Given the description of an element on the screen output the (x, y) to click on. 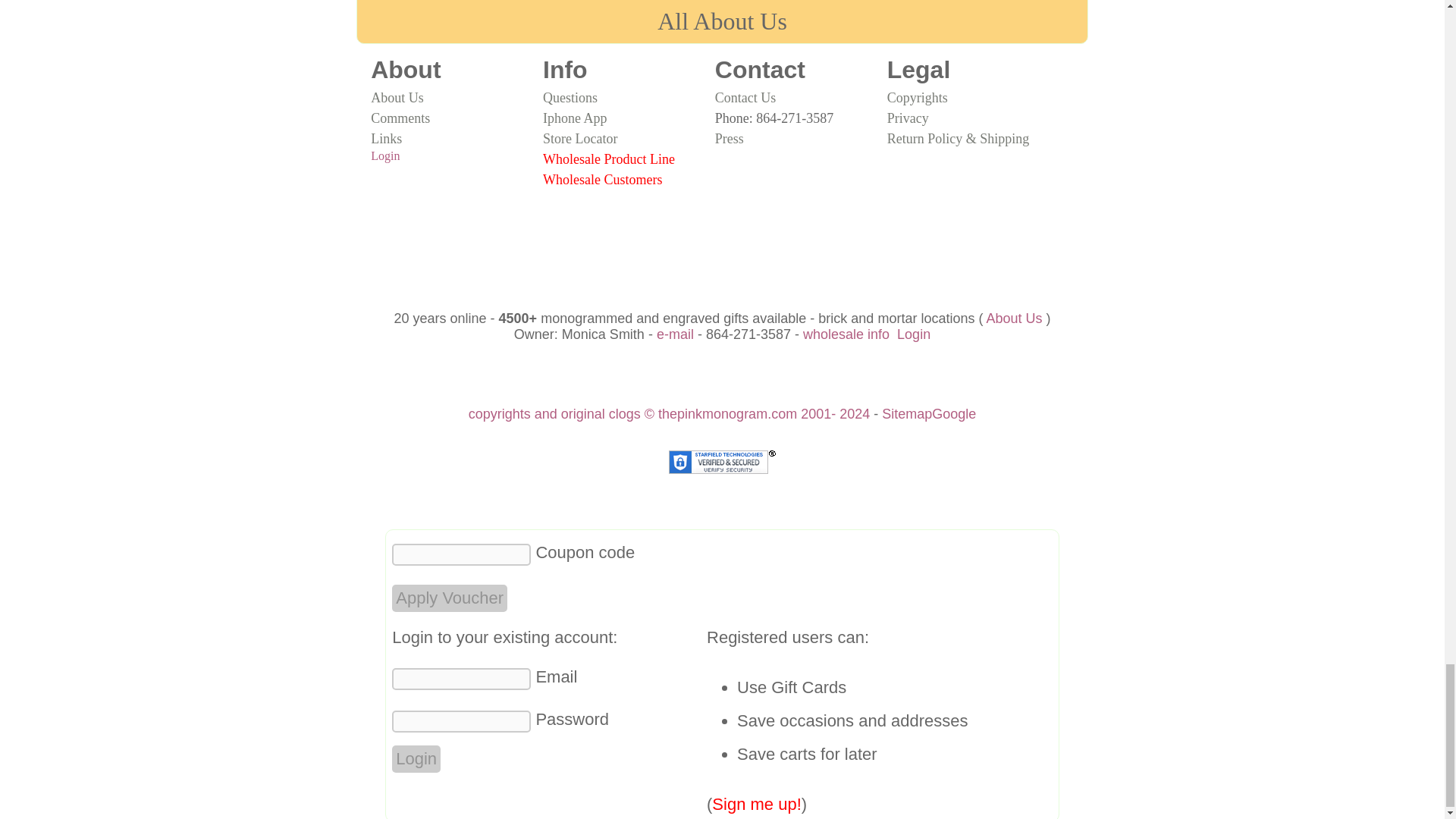
Apply Voucher (448, 597)
Login (416, 759)
